Given the description of an element on the screen output the (x, y) to click on. 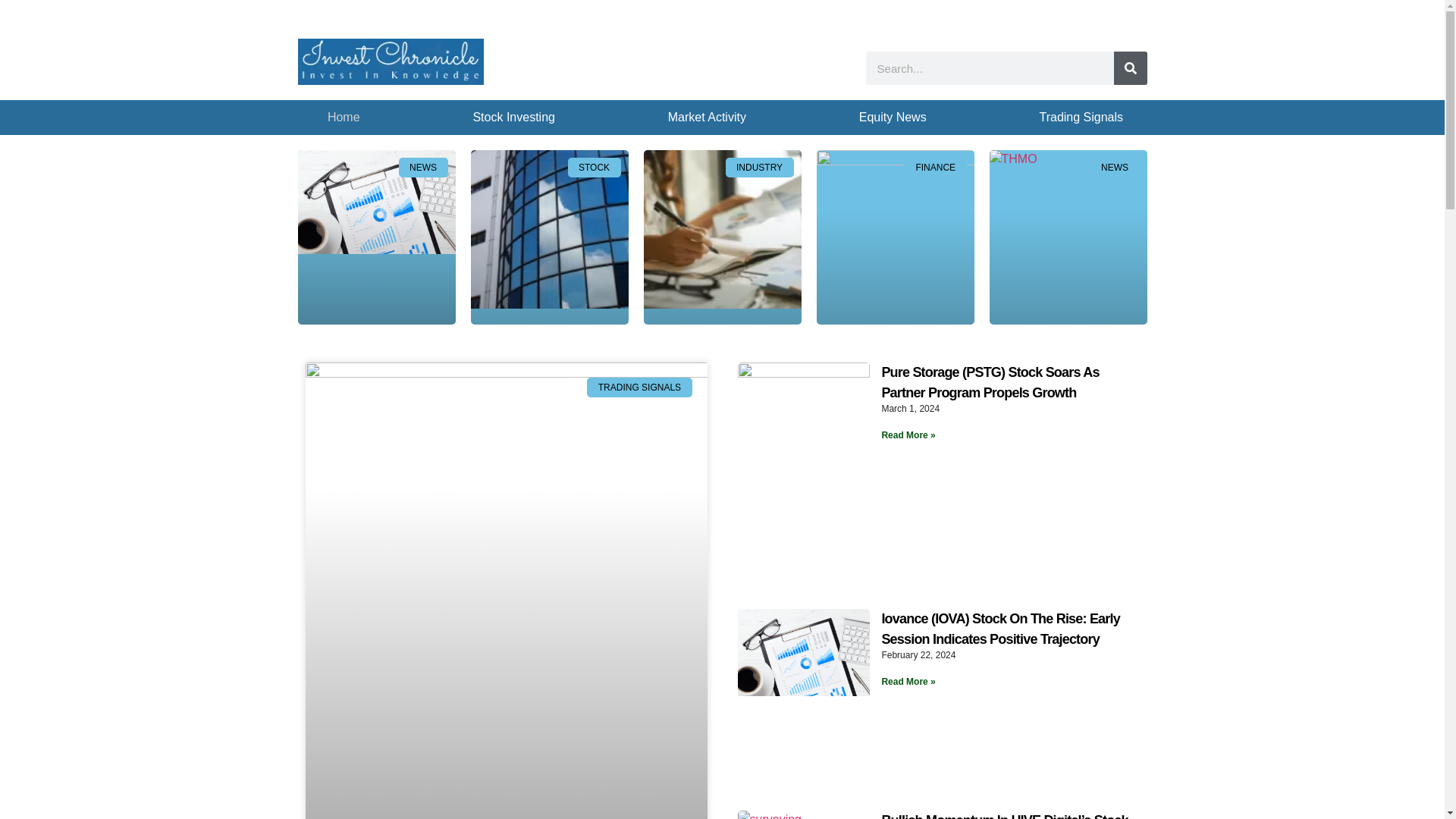
Market Activity (706, 117)
Trading Signals (1080, 117)
Home (343, 117)
Stock Investing (513, 117)
Equity News (892, 117)
